Given the description of an element on the screen output the (x, y) to click on. 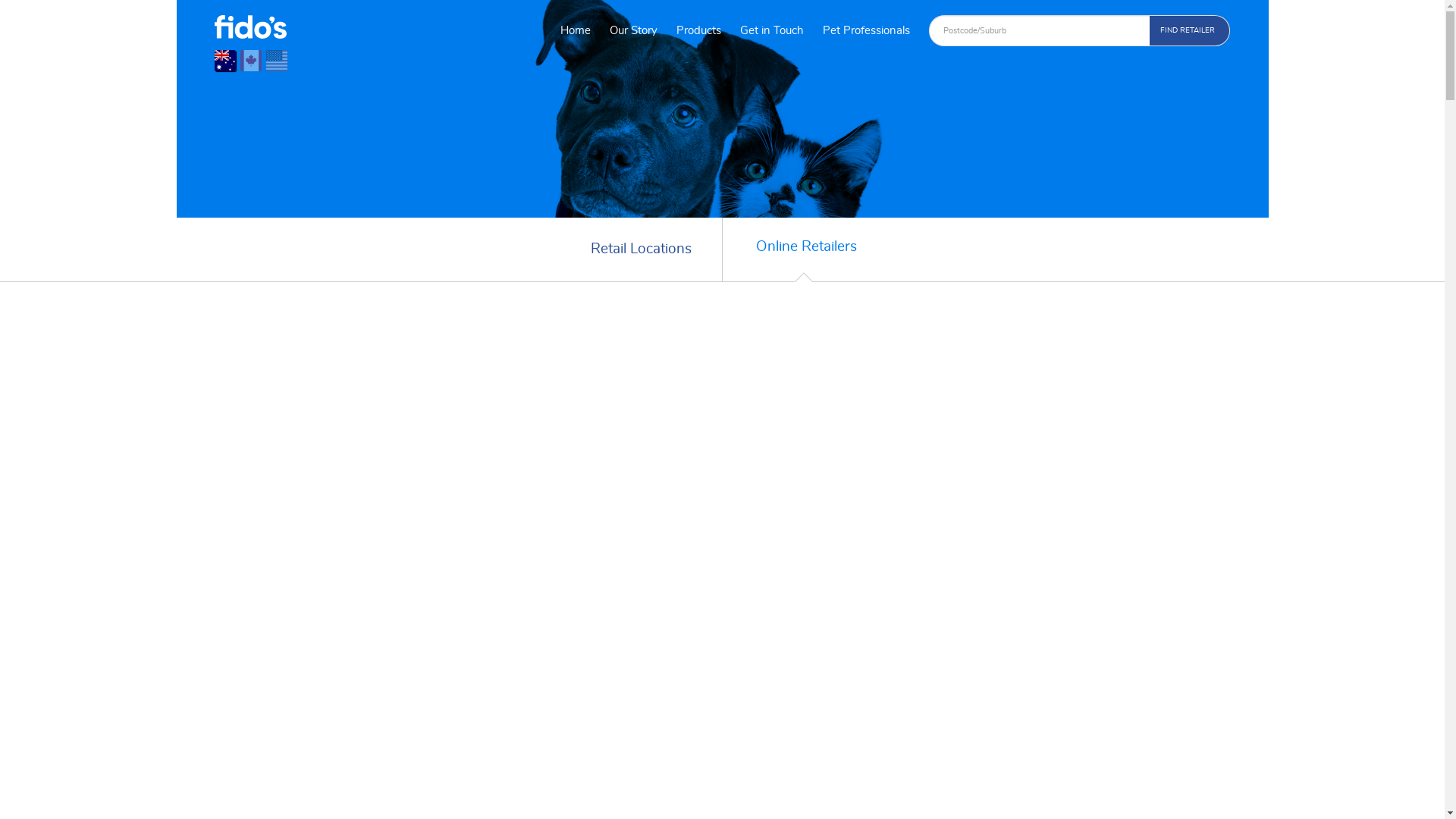
Home Element type: text (575, 31)
Pet Professionals Element type: text (866, 31)
Get in Touch Element type: text (771, 31)
Our Story Element type: text (633, 31)
Products Element type: text (698, 31)
